Given the description of an element on the screen output the (x, y) to click on. 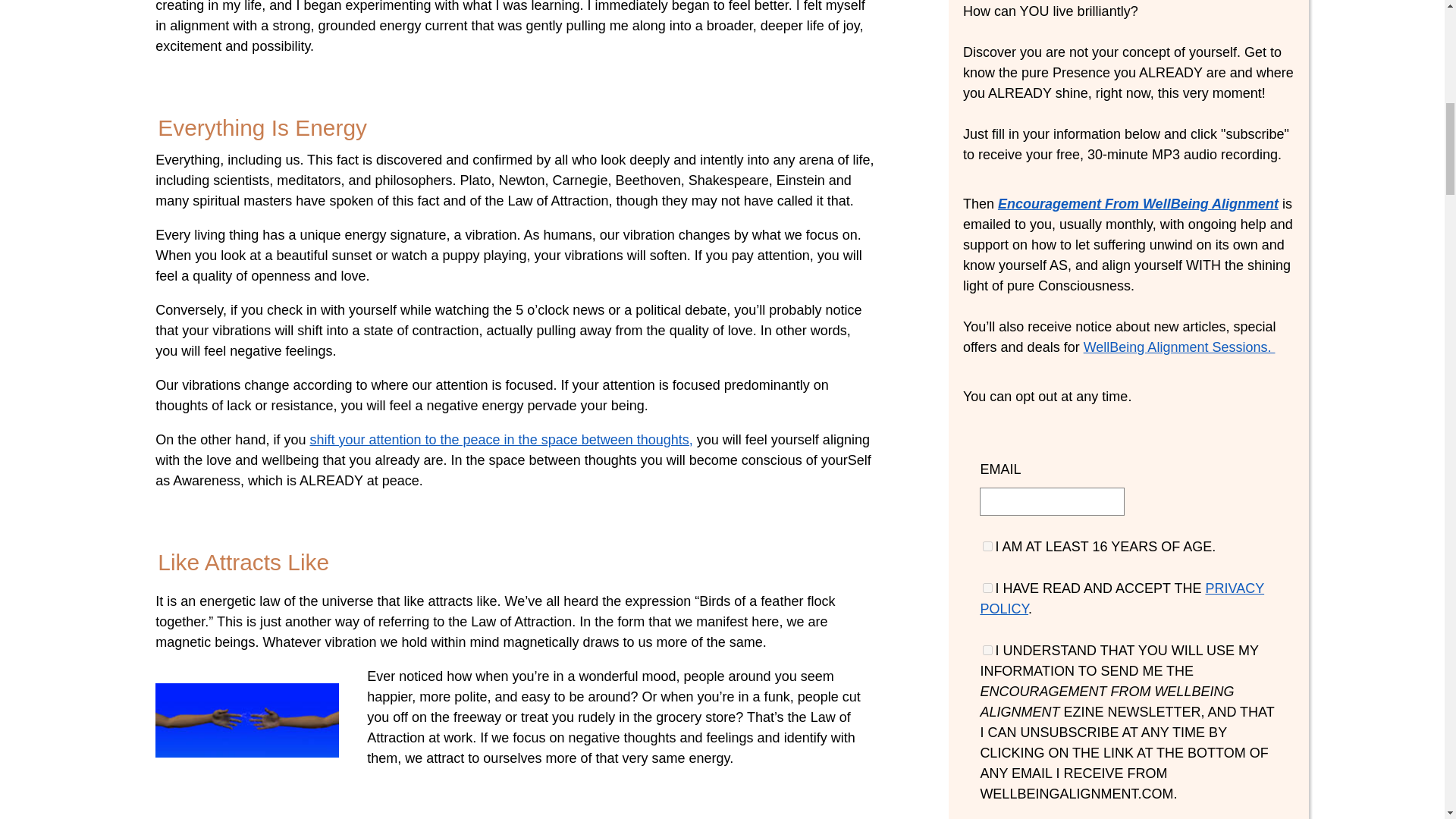
on (987, 546)
on (987, 587)
Law of Attraction (255, 719)
on (987, 650)
